Given the description of an element on the screen output the (x, y) to click on. 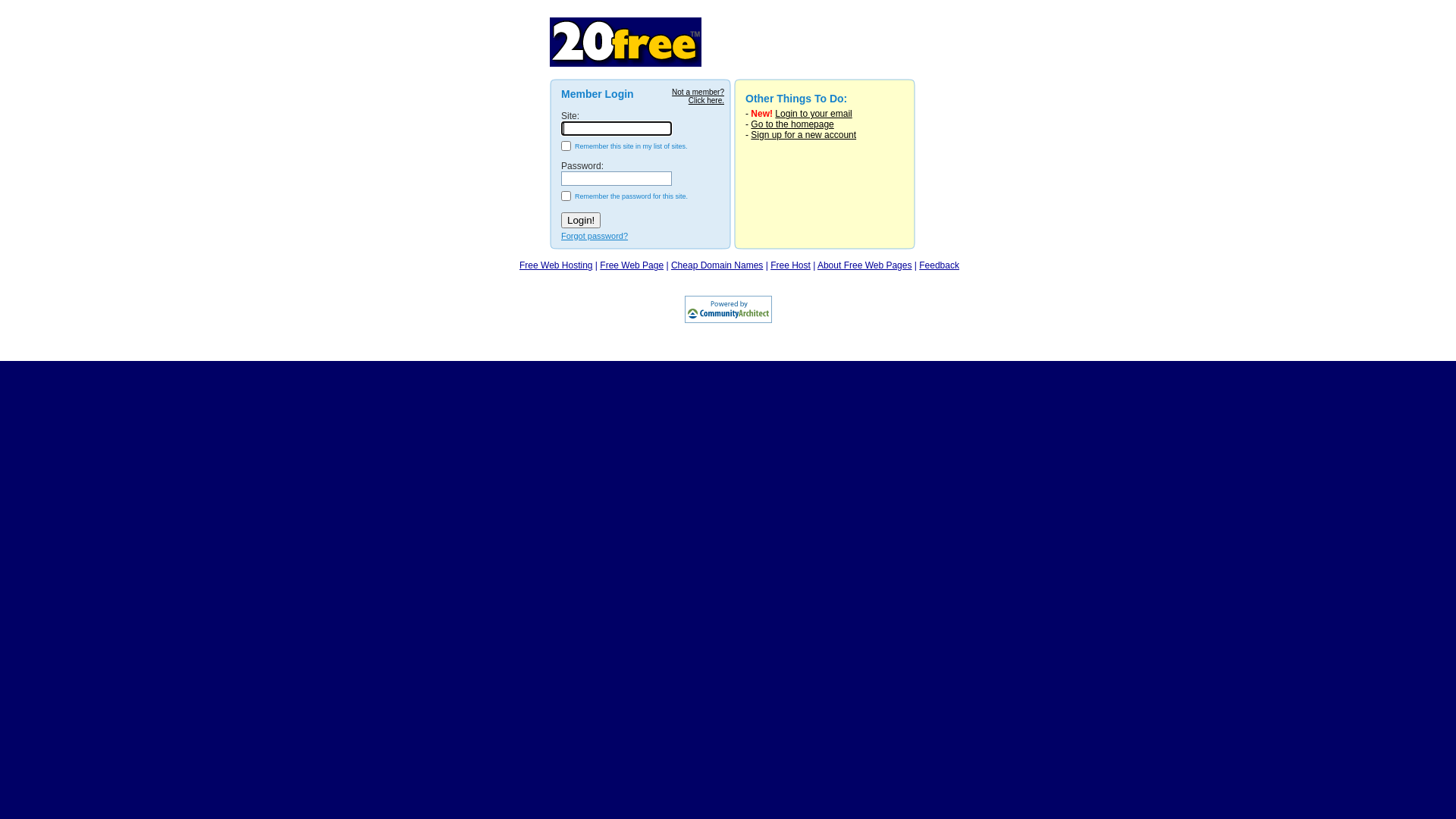
Go to the homepage Element type: text (791, 124)
Free Web Hosting Element type: text (556, 265)
Login! Element type: text (580, 220)
Forgot password? Element type: text (594, 235)
Not a member?
Click here. Element type: text (697, 95)
Sign up for a new account Element type: text (803, 134)
true Element type: text (566, 145)
Cheap Domain Names Element type: text (716, 265)
Free Host Element type: text (790, 265)
Feedback Element type: text (939, 265)
Free Web Page Element type: text (631, 265)
About Free Web Pages Element type: text (864, 265)
Login to your email Element type: text (813, 113)
